Given the description of an element on the screen output the (x, y) to click on. 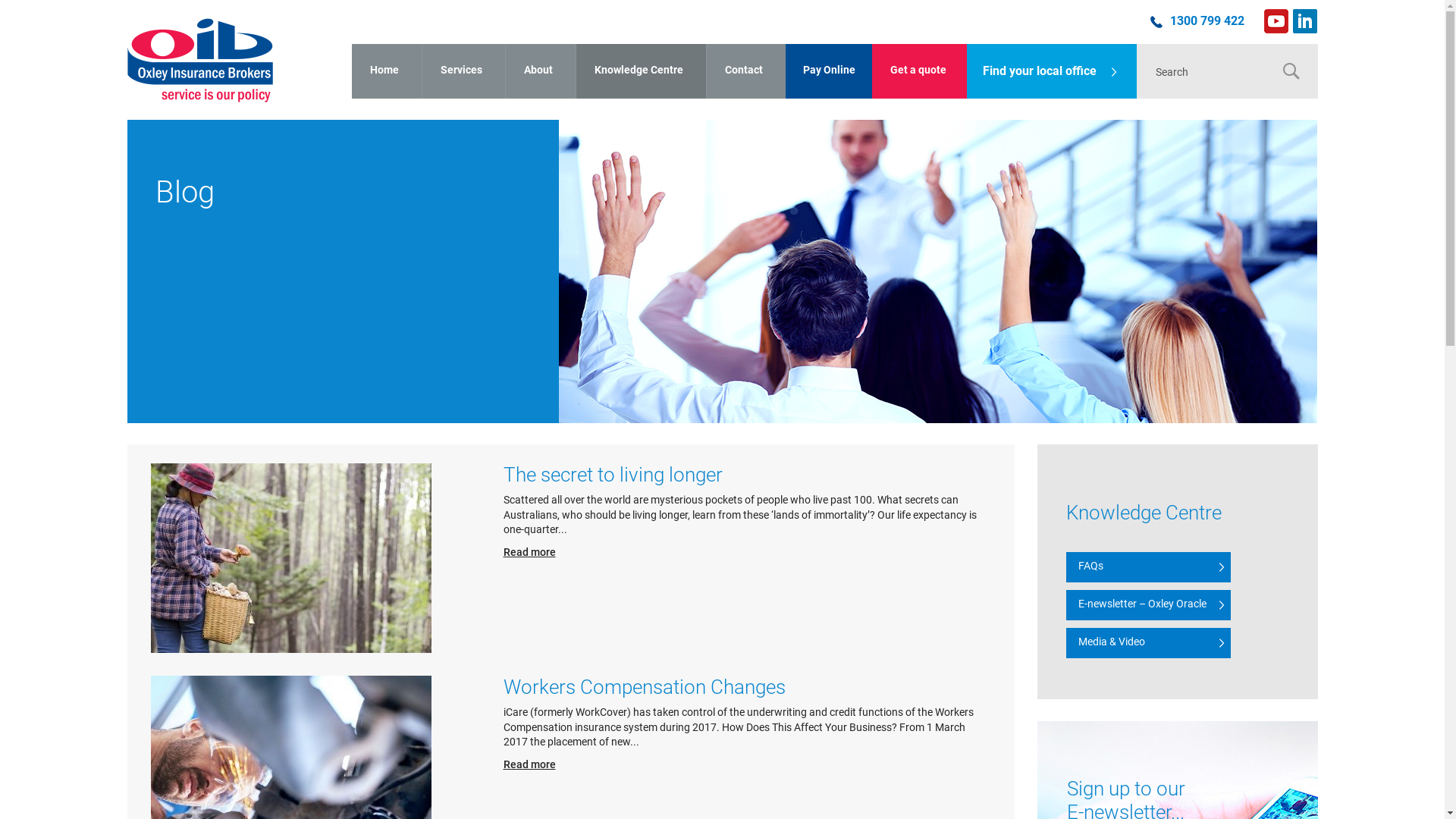
FAQs Element type: text (1148, 567)
Contact Element type: text (744, 70)
Home Element type: text (386, 70)
Knowledge Centre Element type: text (639, 70)
Media & Video Element type: text (1148, 642)
Find your local office Element type: text (1050, 70)
Get a quote Element type: text (919, 70)
Read more Element type: text (529, 552)
1300 799 422 Element type: text (1206, 20)
Workers Compensation Changes Element type: text (644, 686)
About Element type: text (540, 70)
Services Element type: text (463, 70)
The secret to living longer Element type: text (612, 474)
Read more Element type: text (529, 764)
Pay Online Element type: text (828, 70)
